Given the description of an element on the screen output the (x, y) to click on. 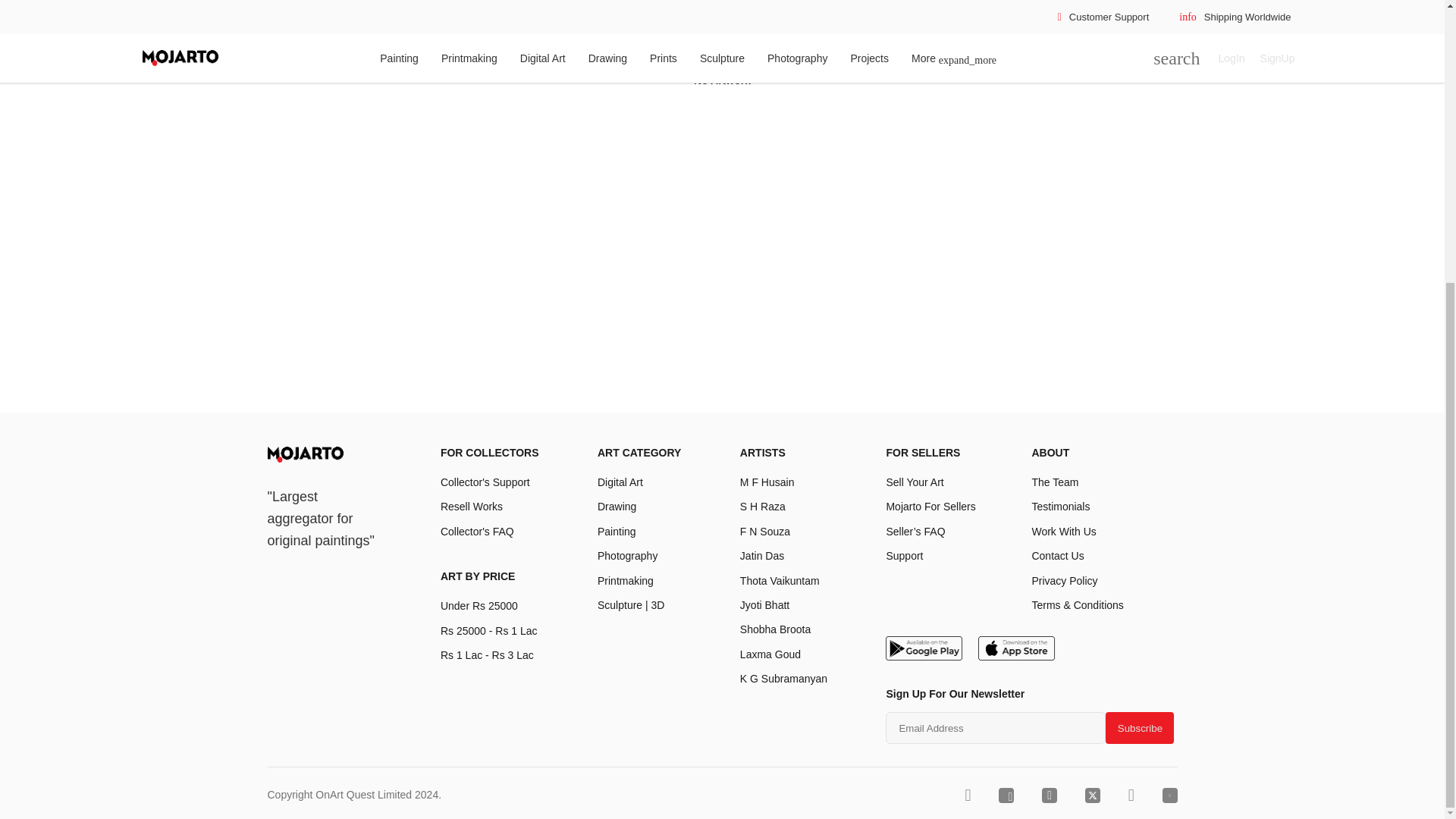
Photography (627, 555)
Facebook (1005, 795)
Youtube (1168, 795)
Instragram (1049, 795)
Digital Art (619, 481)
Jatin Das (761, 555)
Printmaking (624, 580)
F N Souza (764, 531)
Drawing (616, 506)
Rs 25000 - Rs 1 Lac (489, 630)
Resell Works (471, 506)
M F Husain (766, 481)
Painting (616, 531)
S H Raza (762, 506)
Twitter (1092, 795)
